Given the description of an element on the screen output the (x, y) to click on. 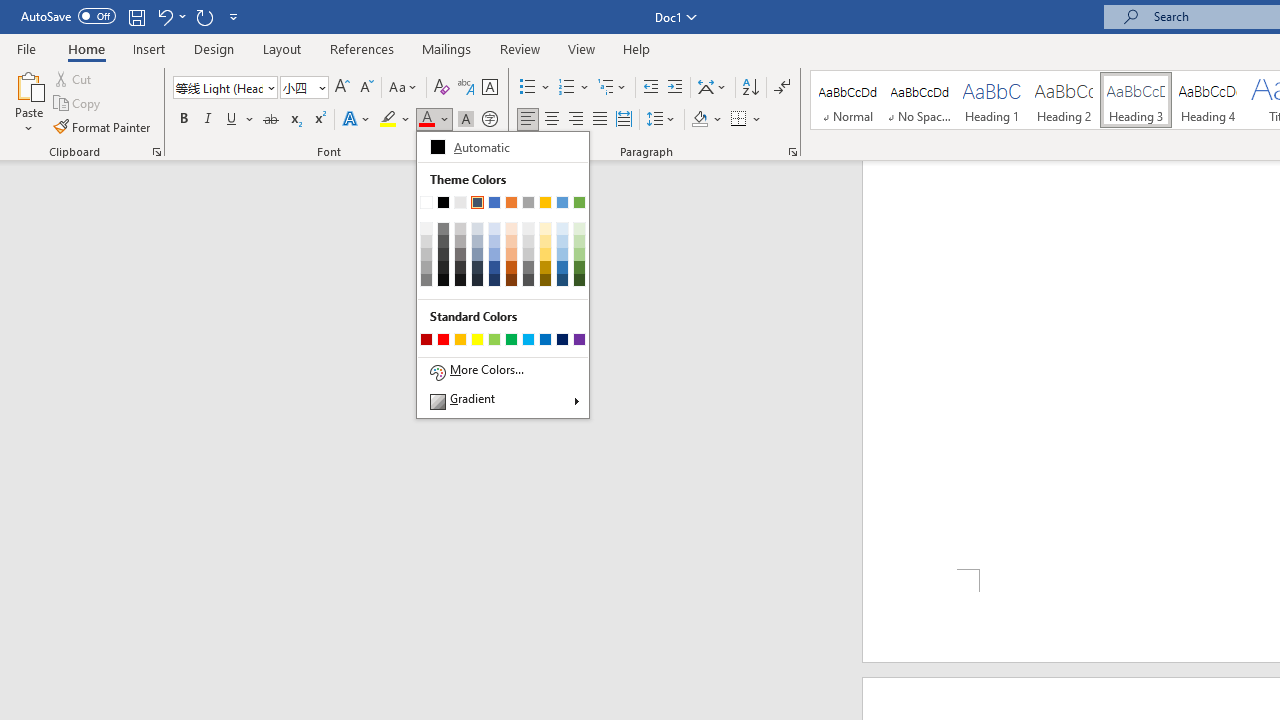
Layout (282, 48)
References (362, 48)
Borders (746, 119)
View (582, 48)
Text Effects and Typography (357, 119)
Undo Apply Quick Style (164, 15)
Shading (706, 119)
Character Shading (465, 119)
Asian Layout (712, 87)
Grow Font (342, 87)
Underline (232, 119)
Bullets (527, 87)
Heading 4 (1208, 100)
Sort... (750, 87)
Office Clipboard... (156, 151)
